Given the description of an element on the screen output the (x, y) to click on. 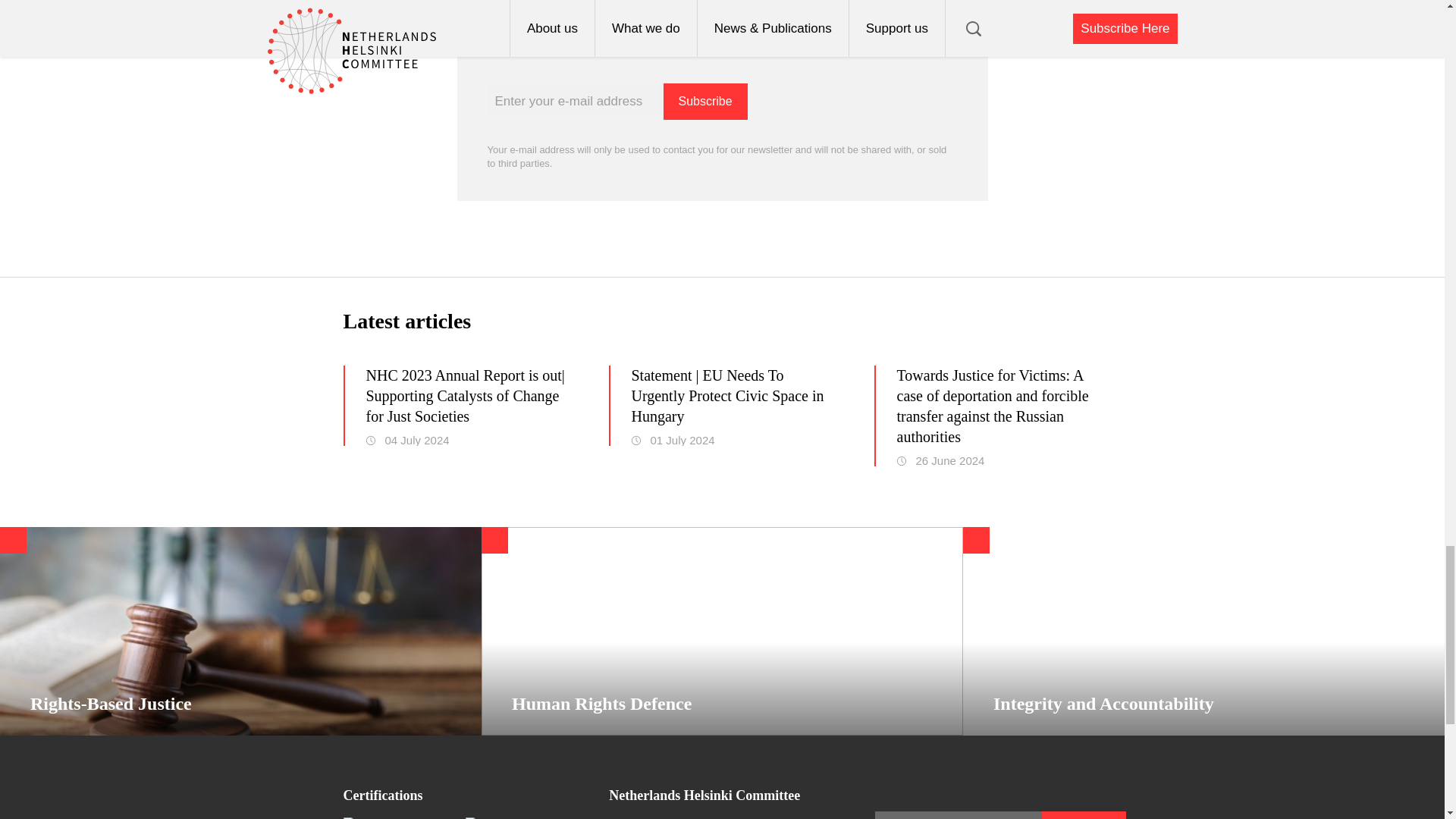
Subscribe (704, 101)
Subscribe (1083, 815)
Subscribe (704, 101)
